Given the description of an element on the screen output the (x, y) to click on. 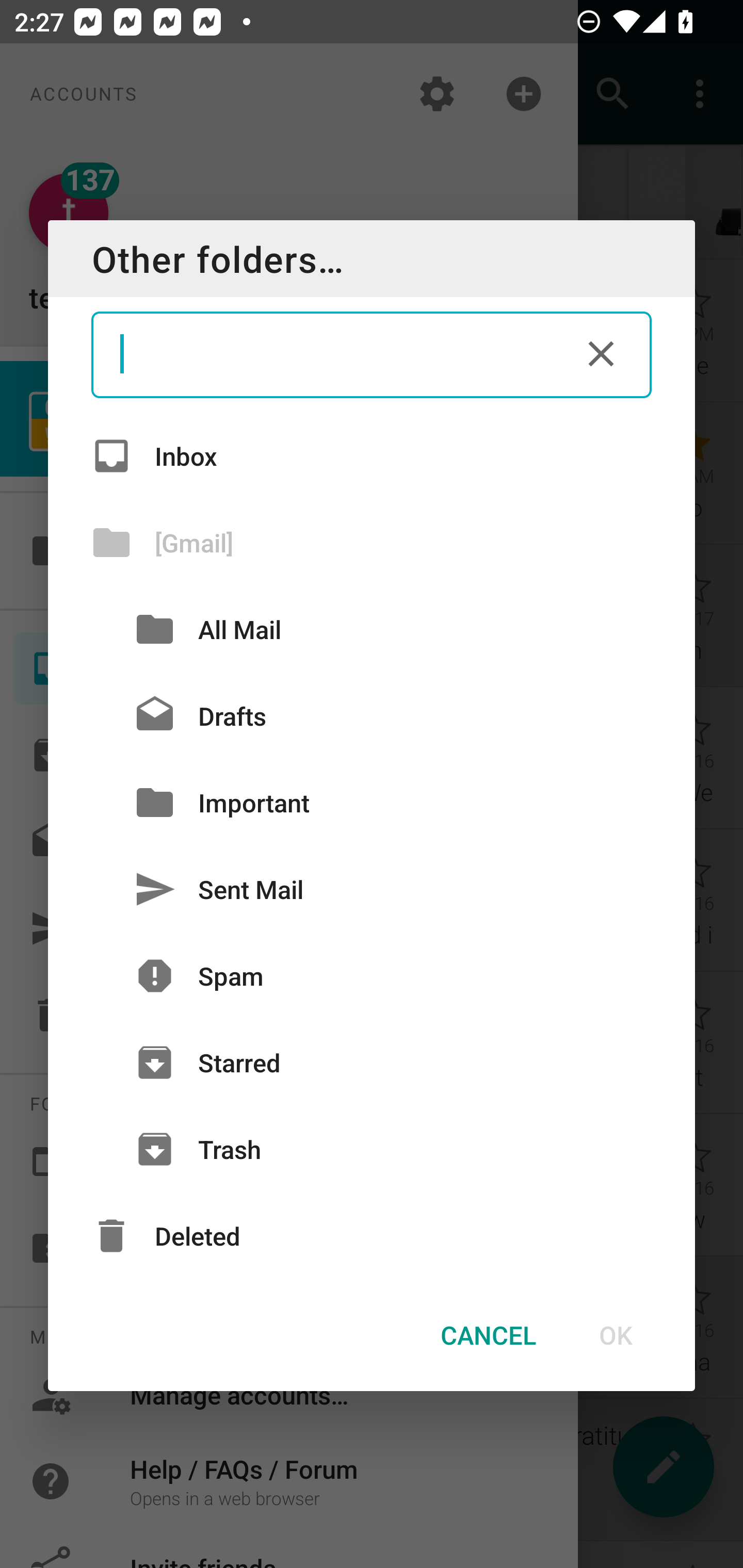
Cancel (600, 353)
Inbox (371, 455)
All Mail (371, 629)
Drafts (371, 715)
Important (371, 801)
Sent Mail (371, 888)
Spam (371, 975)
Starred (371, 1062)
Trash (371, 1149)
Deleted (371, 1236)
CANCEL (488, 1334)
OK (615, 1334)
